Given the description of an element on the screen output the (x, y) to click on. 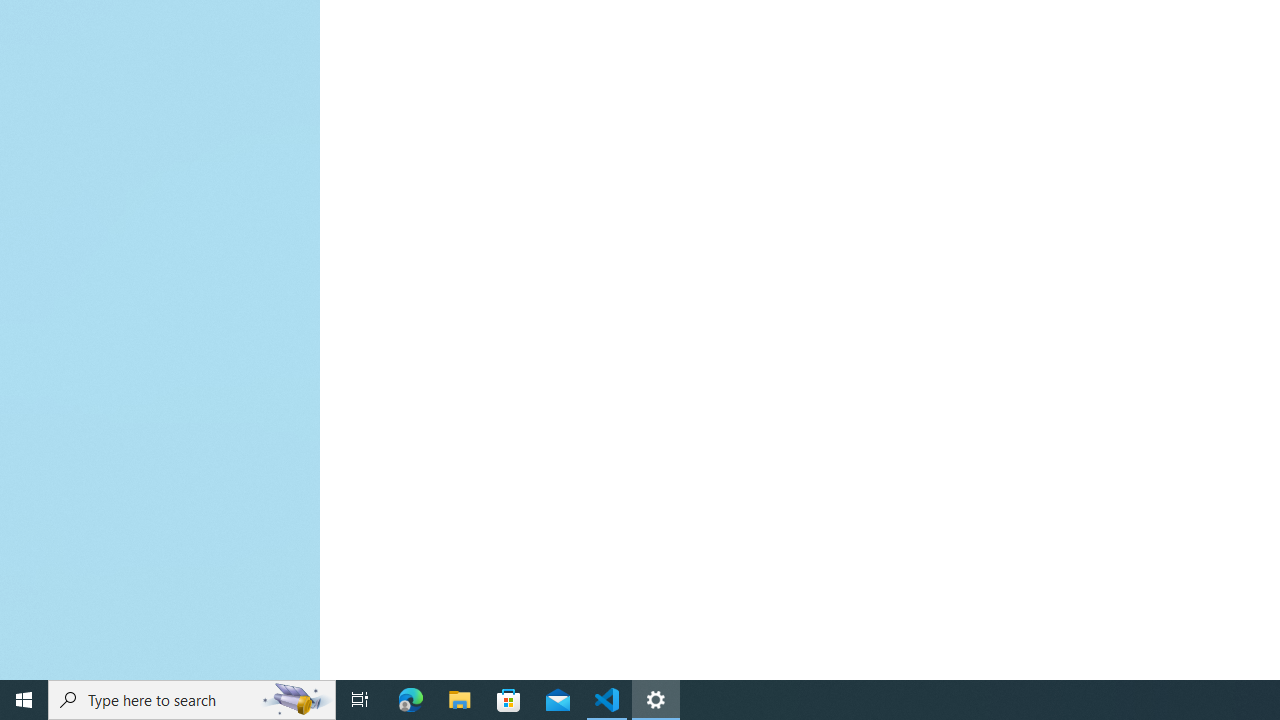
Type here to search (191, 699)
Task View (359, 699)
Settings - 1 running window (656, 699)
File Explorer (460, 699)
Microsoft Edge (411, 699)
Start (24, 699)
Microsoft Store (509, 699)
Visual Studio Code - 1 running window (607, 699)
Search highlights icon opens search home window (295, 699)
